Given the description of an element on the screen output the (x, y) to click on. 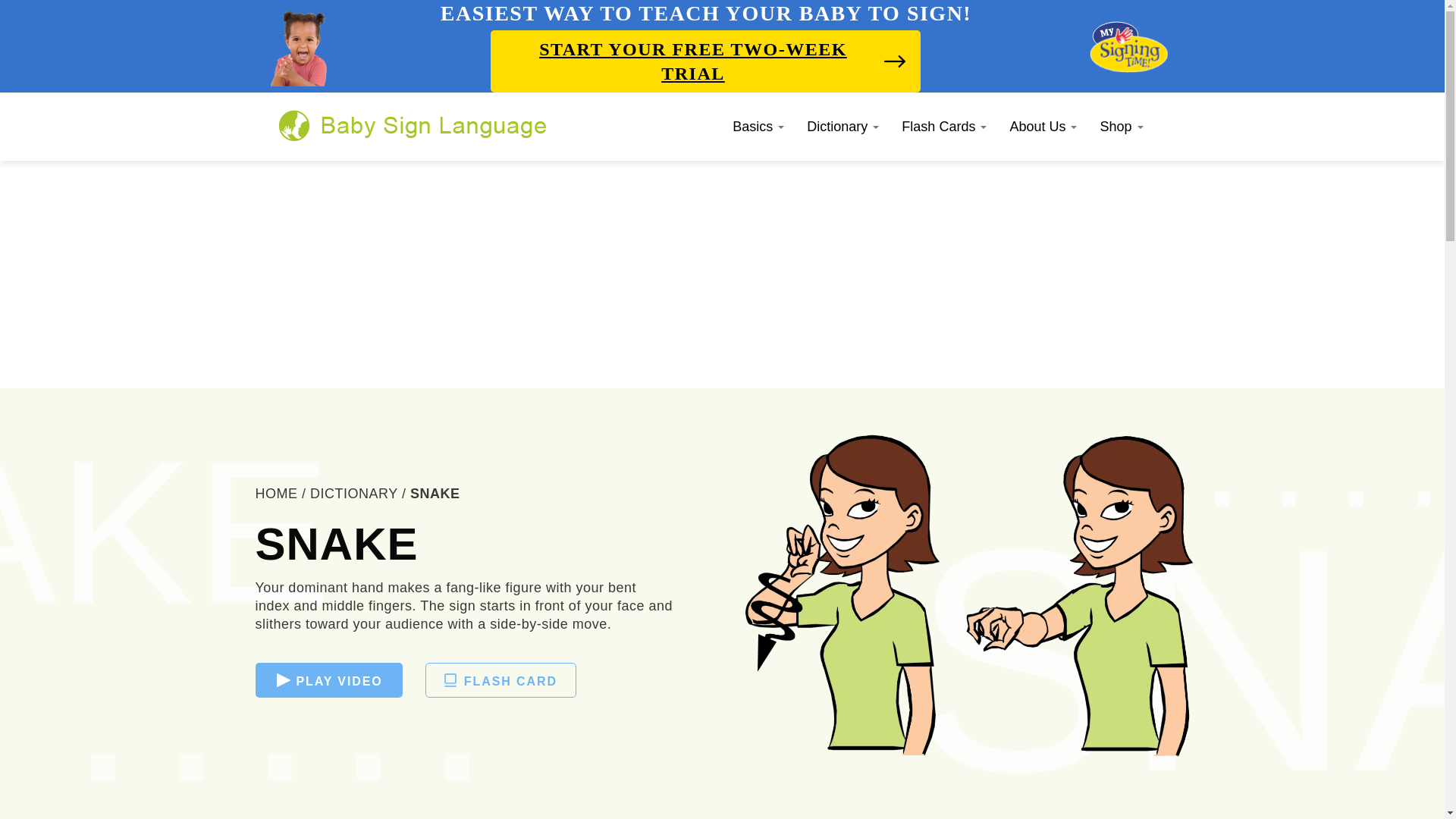
Dictionary (841, 126)
Baby Sign Language (413, 125)
Basics (757, 126)
Basics (757, 126)
START YOUR FREE TWO-WEEK TRIAL (705, 61)
Flash Cards (943, 126)
About Us (1042, 126)
Dictionary (841, 126)
